Given the description of an element on the screen output the (x, y) to click on. 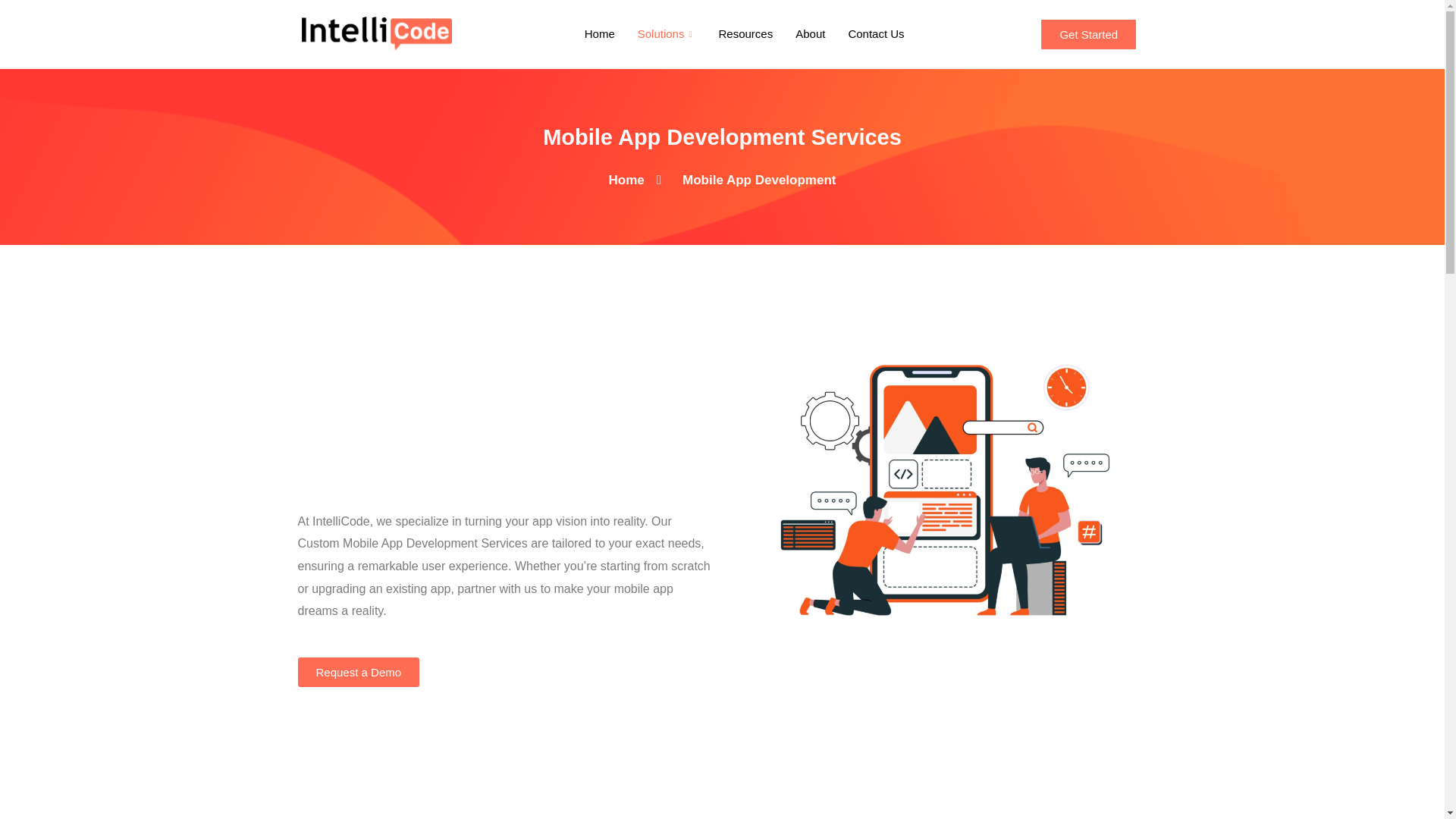
Home (599, 33)
Solutions (666, 33)
